Given the description of an element on the screen output the (x, y) to click on. 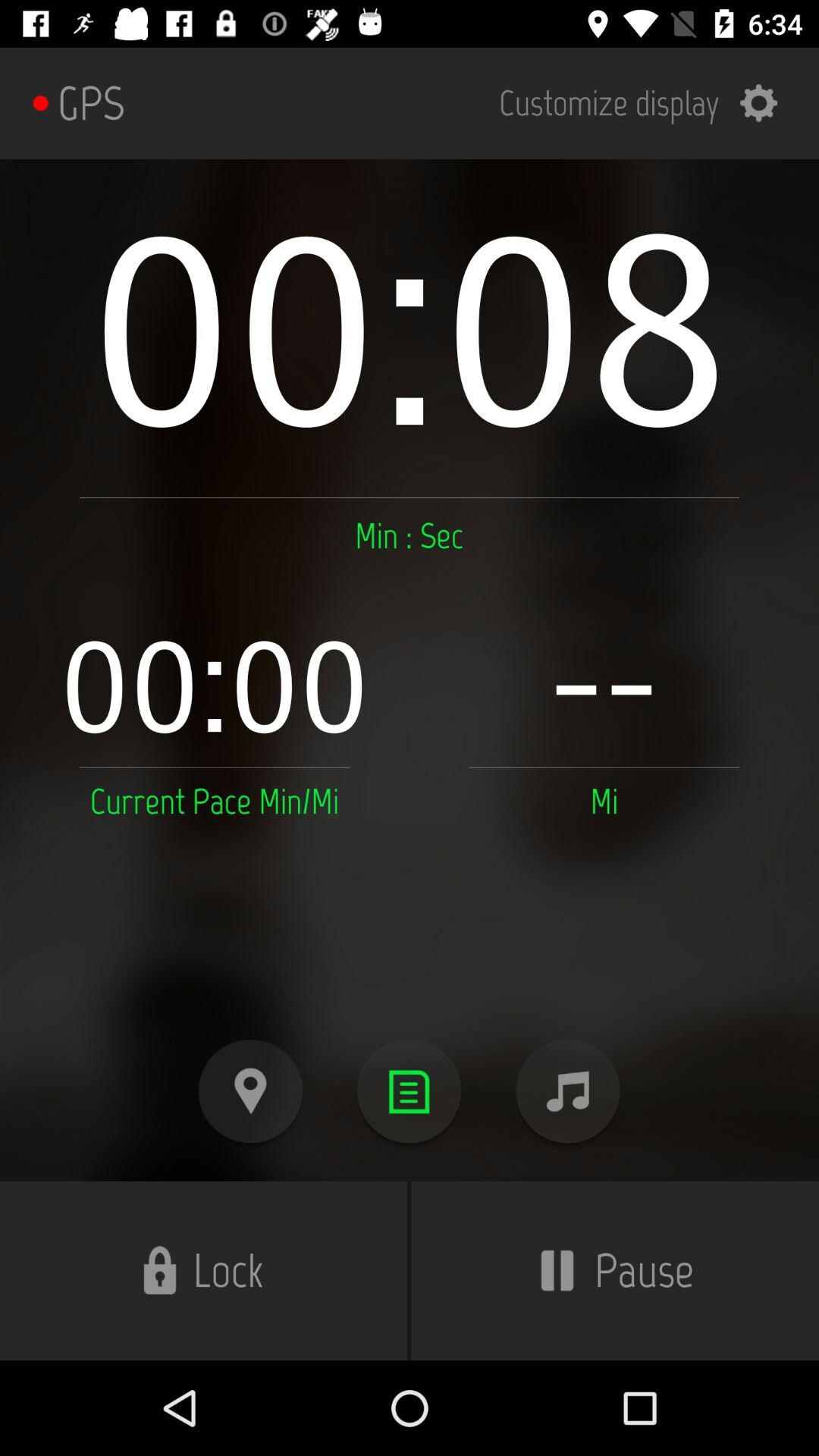
click on pause (615, 1269)
click on the text customize display text (648, 103)
